Given the description of an element on the screen output the (x, y) to click on. 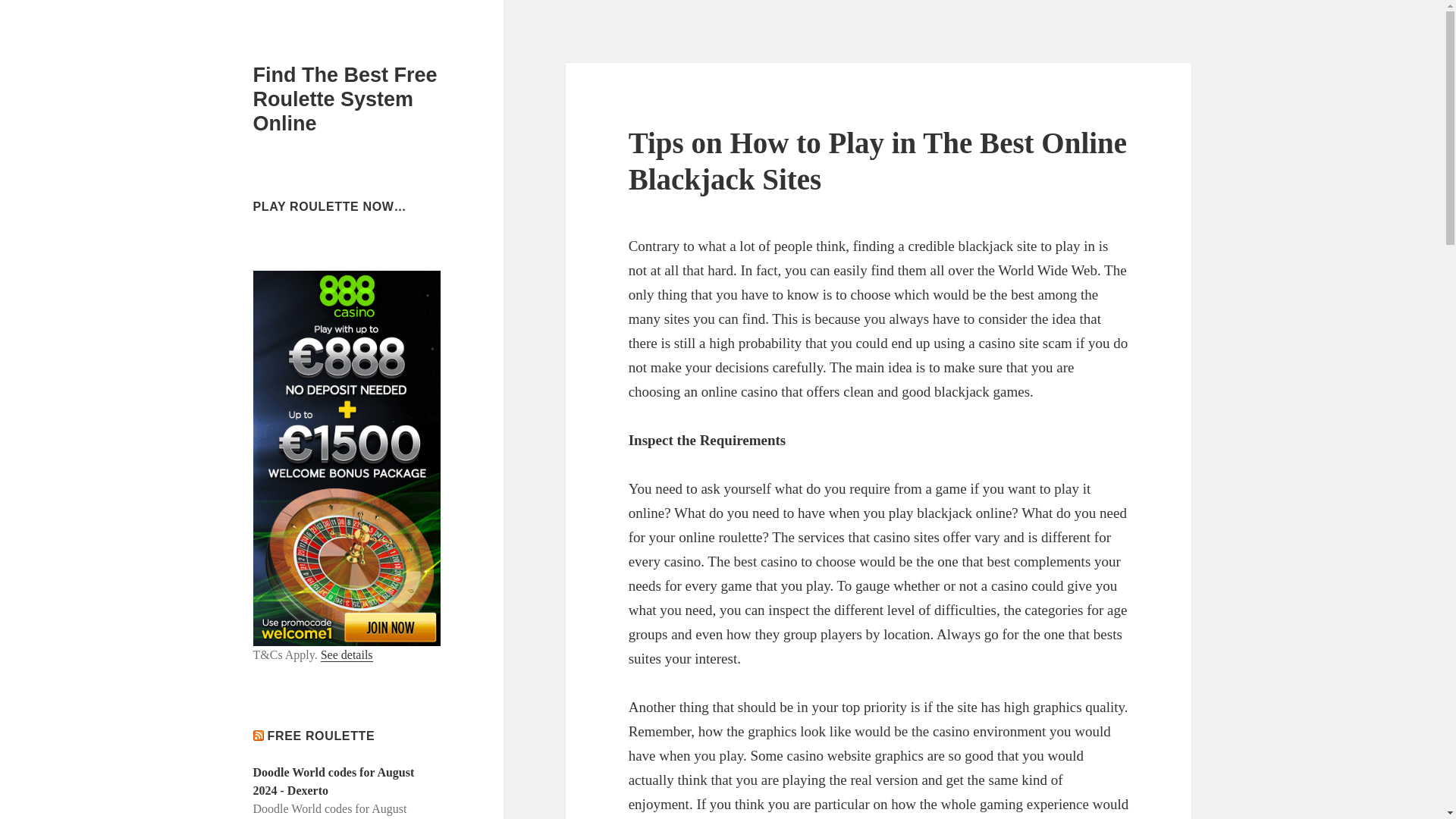
Find The Best Free Roulette System Online (345, 99)
Doodle World codes for August 2024 - Dexerto (333, 780)
FREE ROULETTE (321, 735)
See details (346, 654)
